Given the description of an element on the screen output the (x, y) to click on. 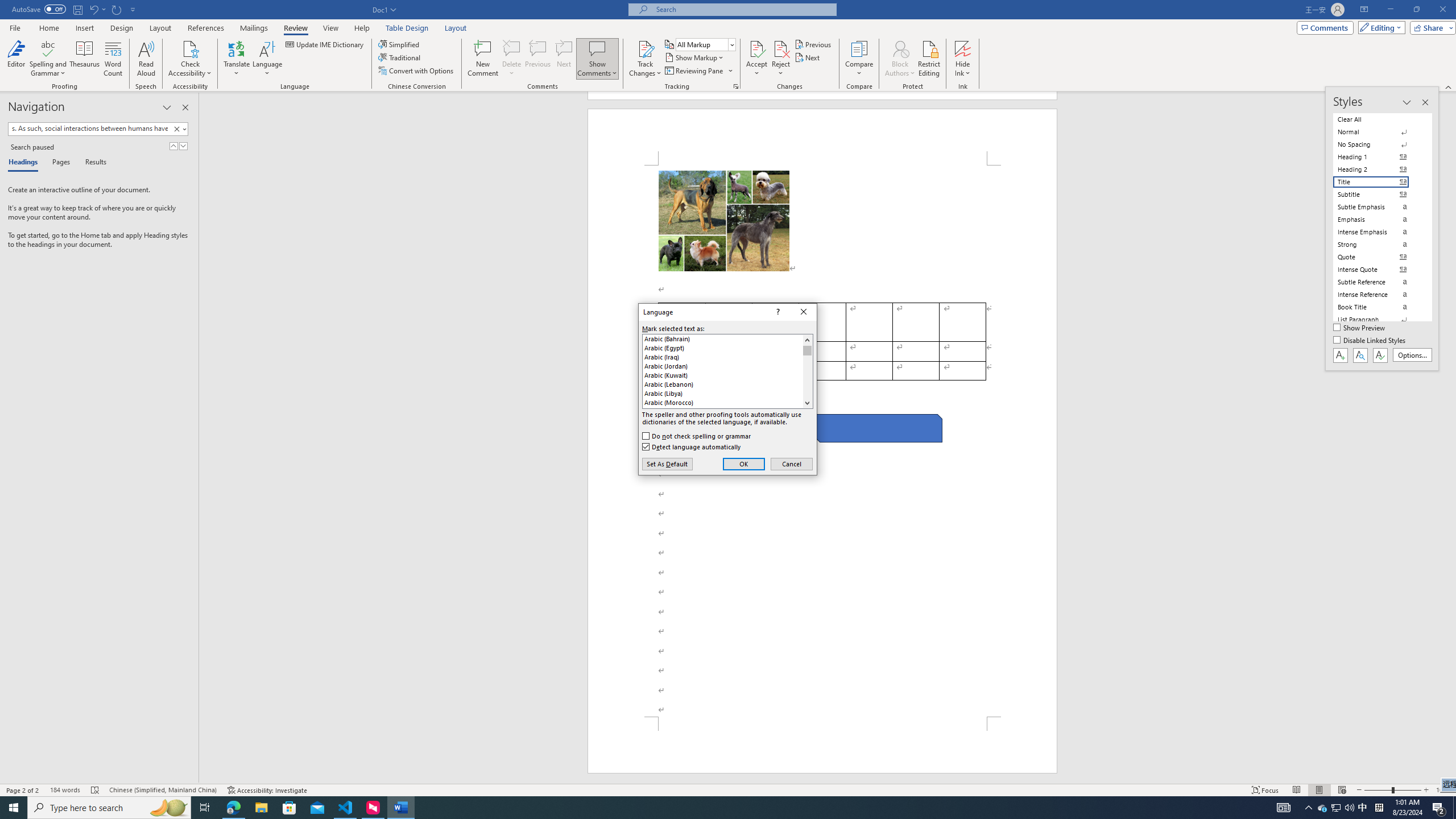
Undo Style (96, 9)
Simplified (400, 44)
Microsoft Edge - 1 running window (233, 807)
List Paragraph (1377, 319)
Page down (807, 376)
Next Result (183, 145)
Options... (1412, 354)
